Given the description of an element on the screen output the (x, y) to click on. 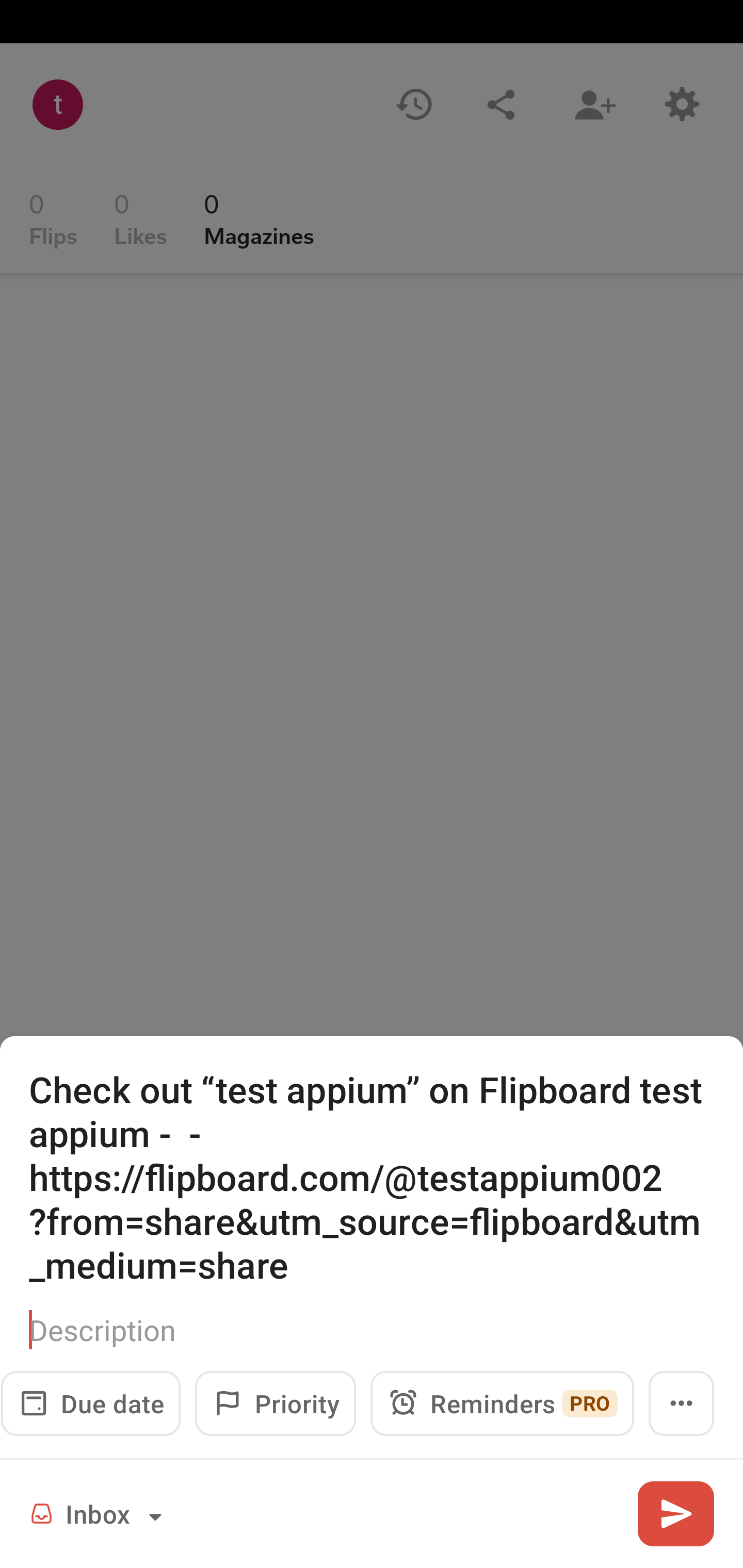
Description (371, 1330)
Due date Date (90, 1403)
Priority (274, 1403)
Reminders PRO Reminders (501, 1403)
Open menu (681, 1403)
Inbox Project (99, 1513)
Add (675, 1513)
